Given the description of an element on the screen output the (x, y) to click on. 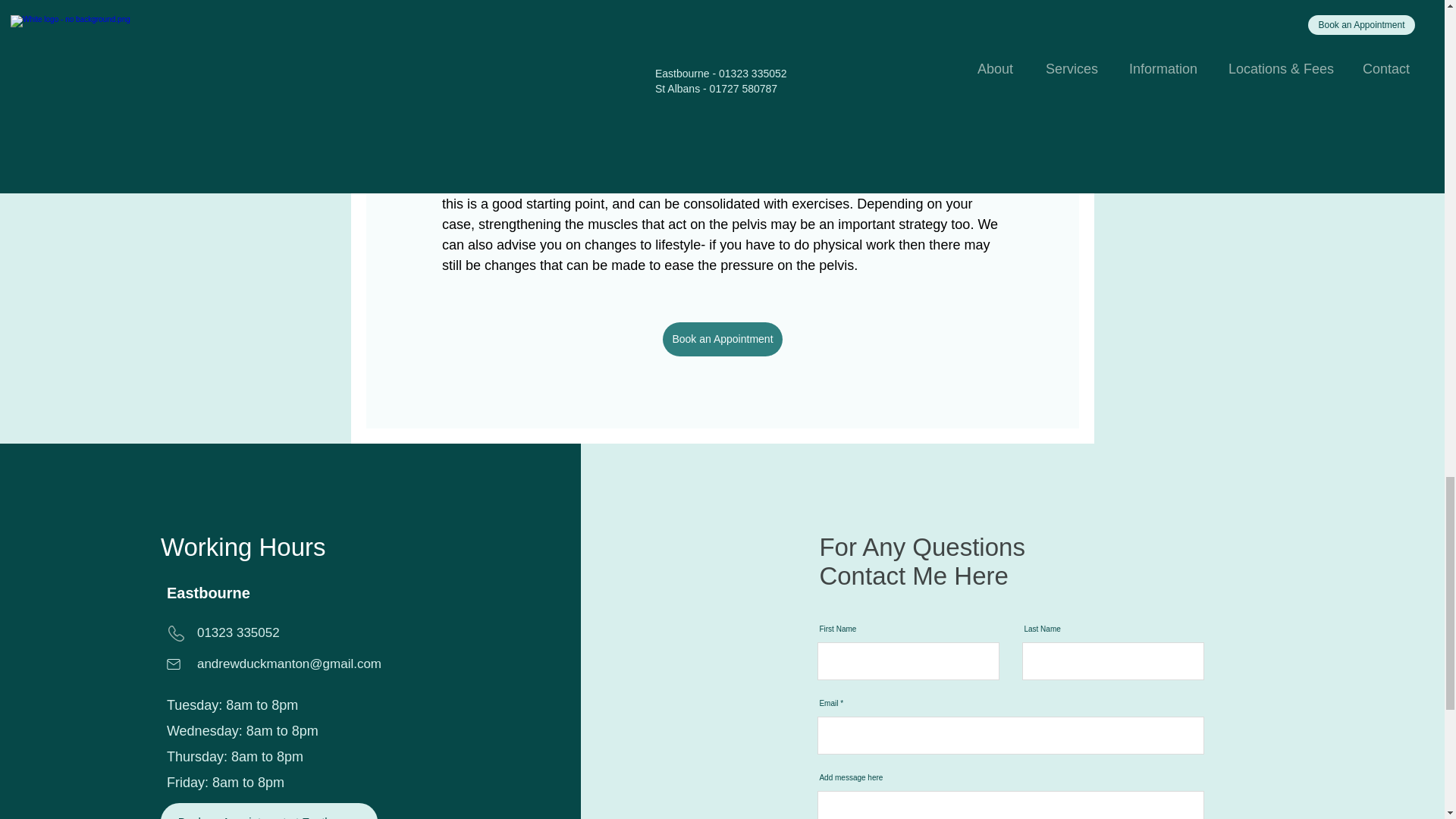
Book an Appointment at Eastbourne (268, 811)
01323 335052 (237, 632)
Book an Appointment (721, 339)
